Given the description of an element on the screen output the (x, y) to click on. 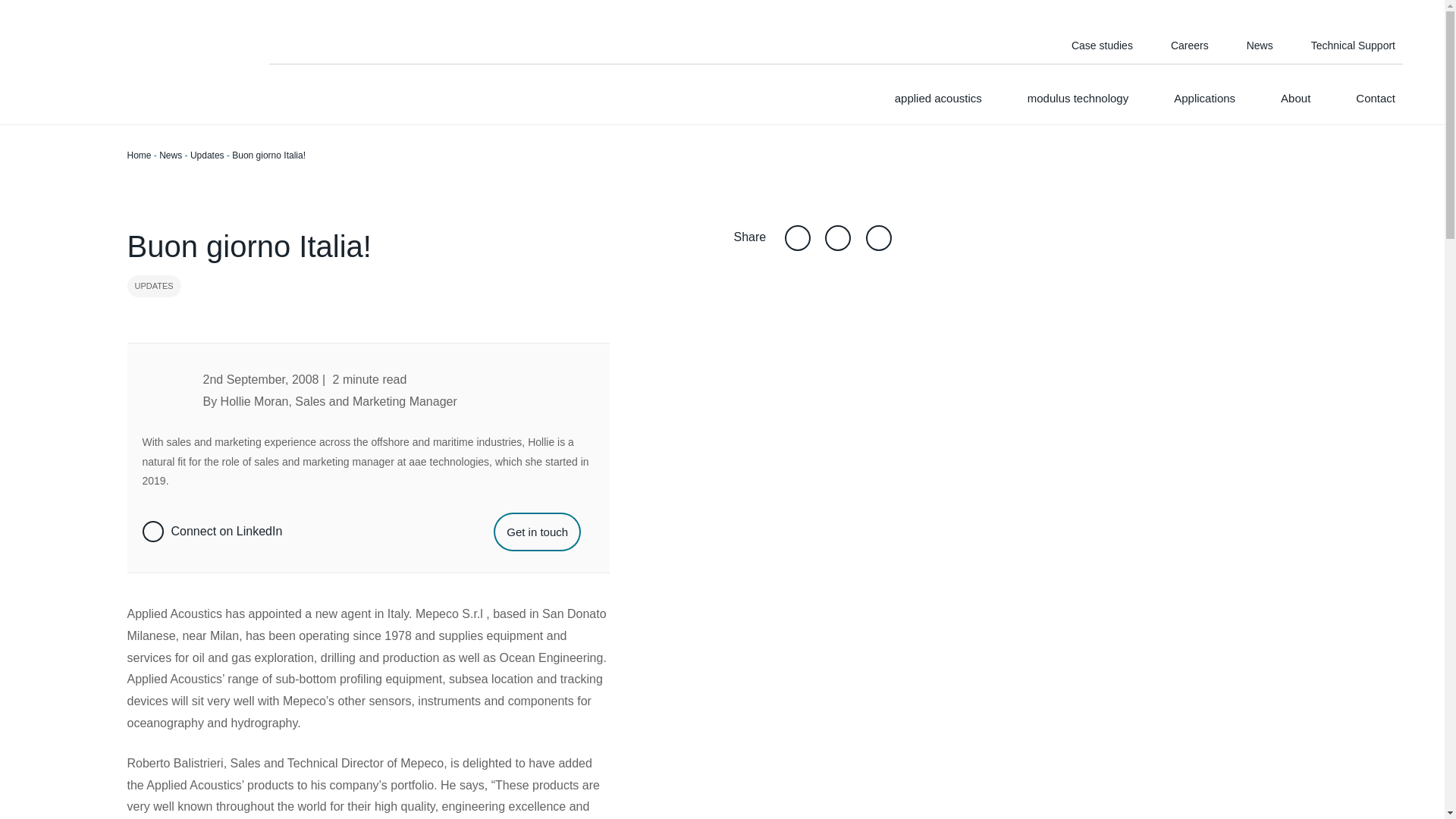
Case studies (1102, 46)
Careers (1189, 46)
applied acoustics (938, 104)
News (1260, 46)
Technical Support (1353, 46)
